Given the description of an element on the screen output the (x, y) to click on. 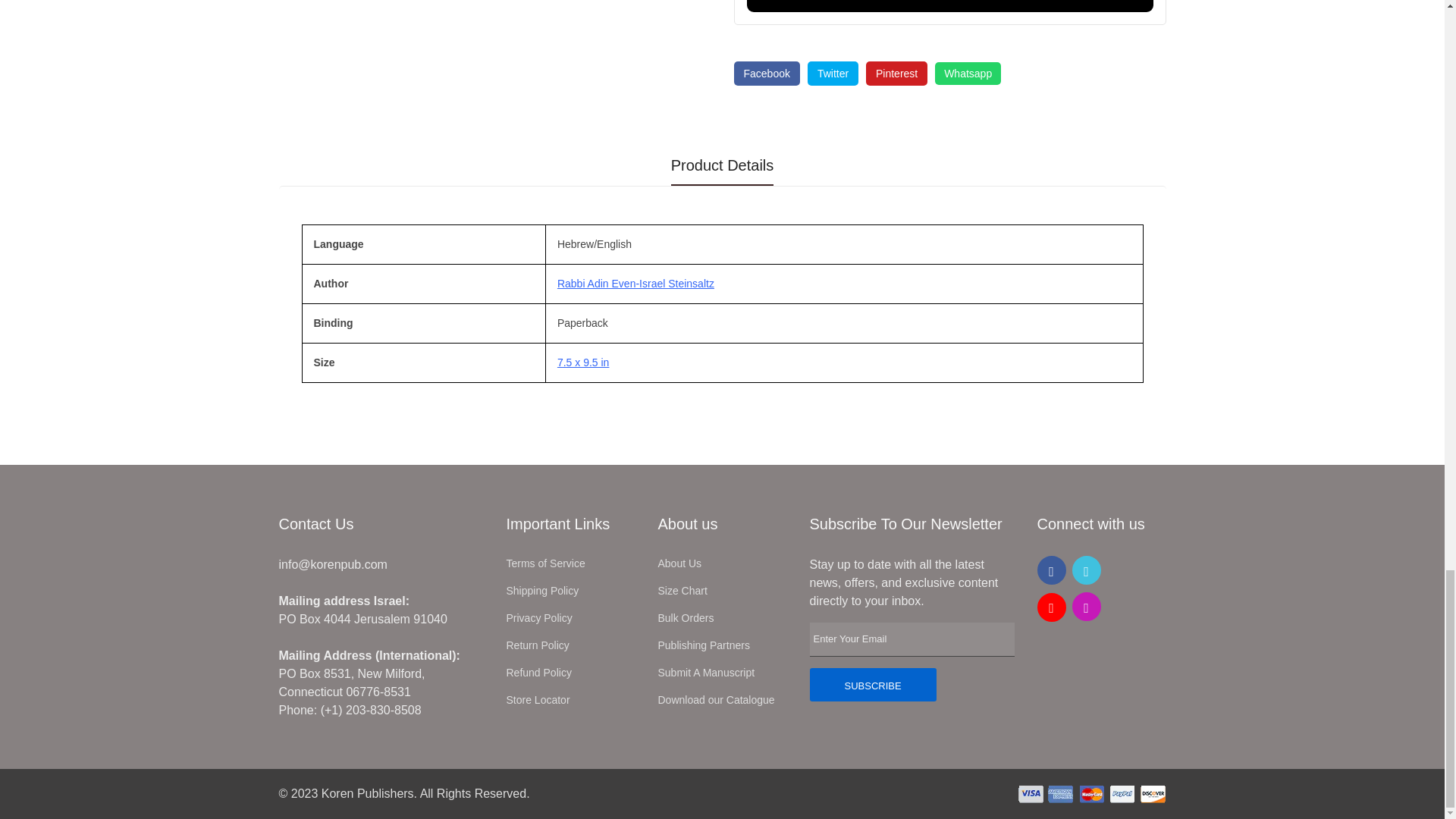
Share on Facebook (766, 73)
Share on Pinterest (896, 73)
Share on Twitter (833, 73)
Subscribe (872, 684)
